Given the description of an element on the screen output the (x, y) to click on. 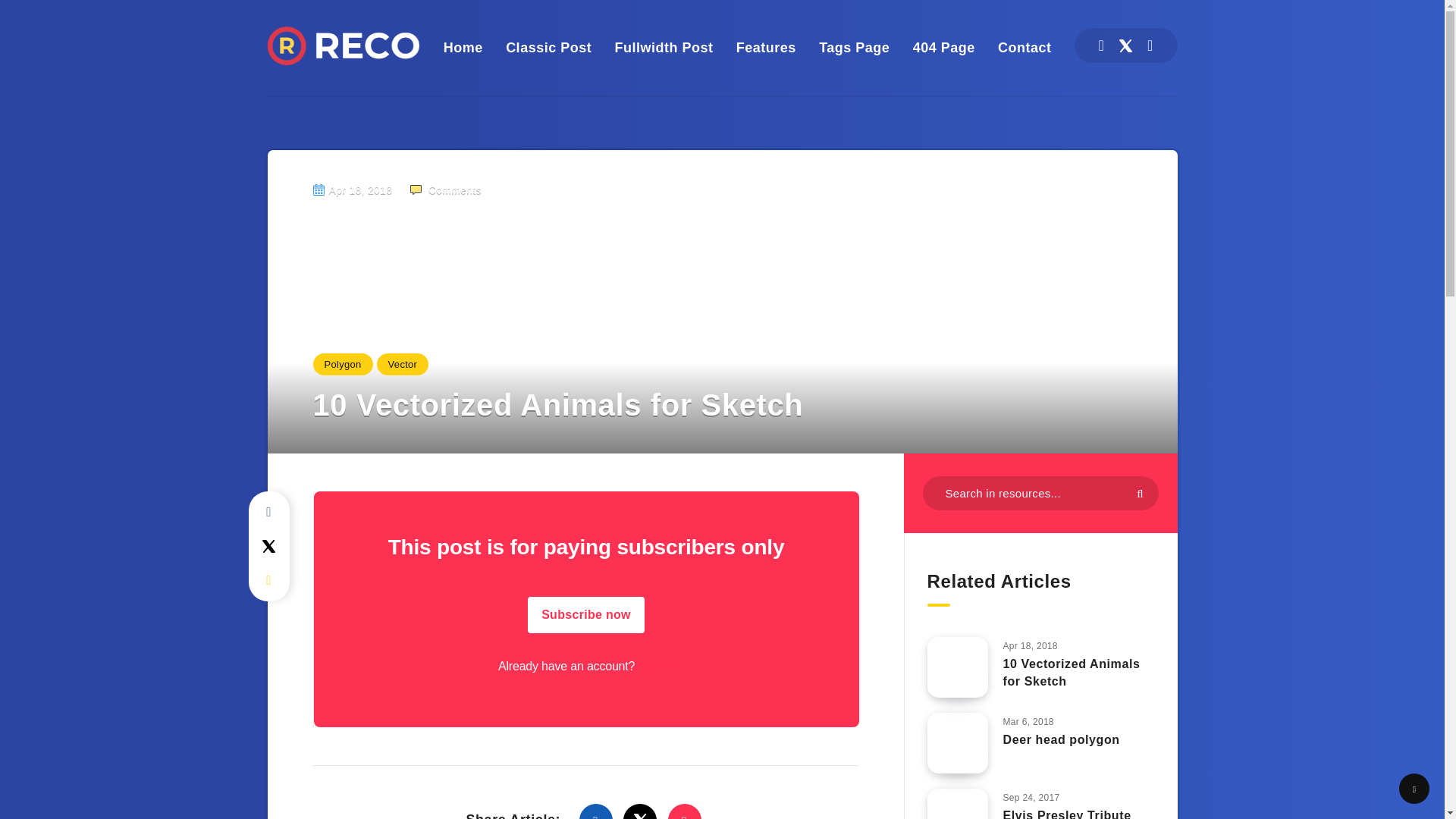
10 Vectorized Animals for Sketch (1071, 674)
Tags Page (853, 47)
404 Page (943, 47)
Deer head polygon (1061, 741)
Subscribe now (586, 615)
Comments (445, 189)
Vector (403, 363)
Polygon (342, 363)
Fullwidth Post (663, 47)
Go to comments (445, 189)
Classic Post (548, 47)
Features (766, 47)
Elvis Presley Tribute (1067, 814)
Sign in (655, 666)
Home (463, 47)
